Given the description of an element on the screen output the (x, y) to click on. 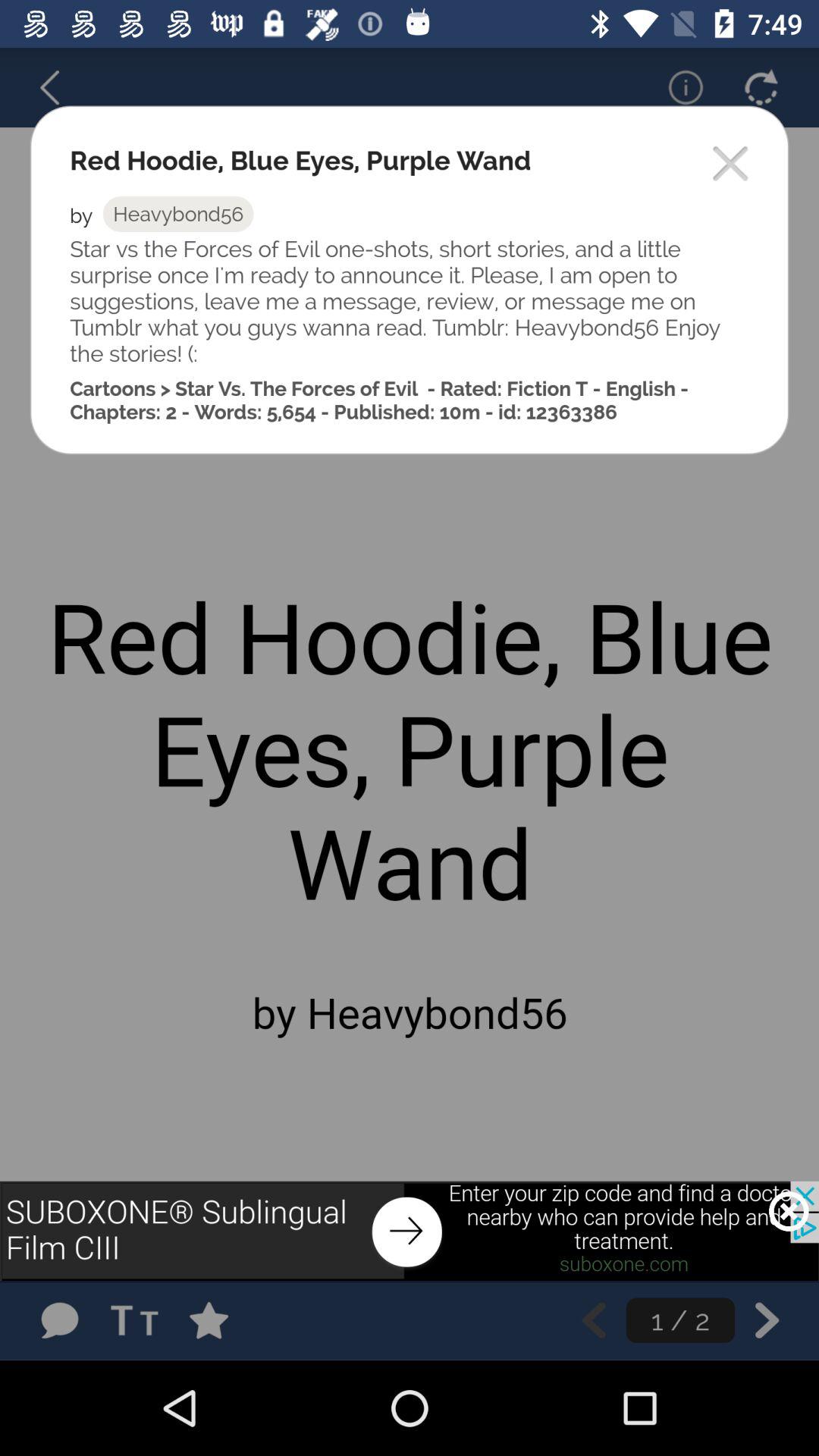
chat (59, 1320)
